Given the description of an element on the screen output the (x, y) to click on. 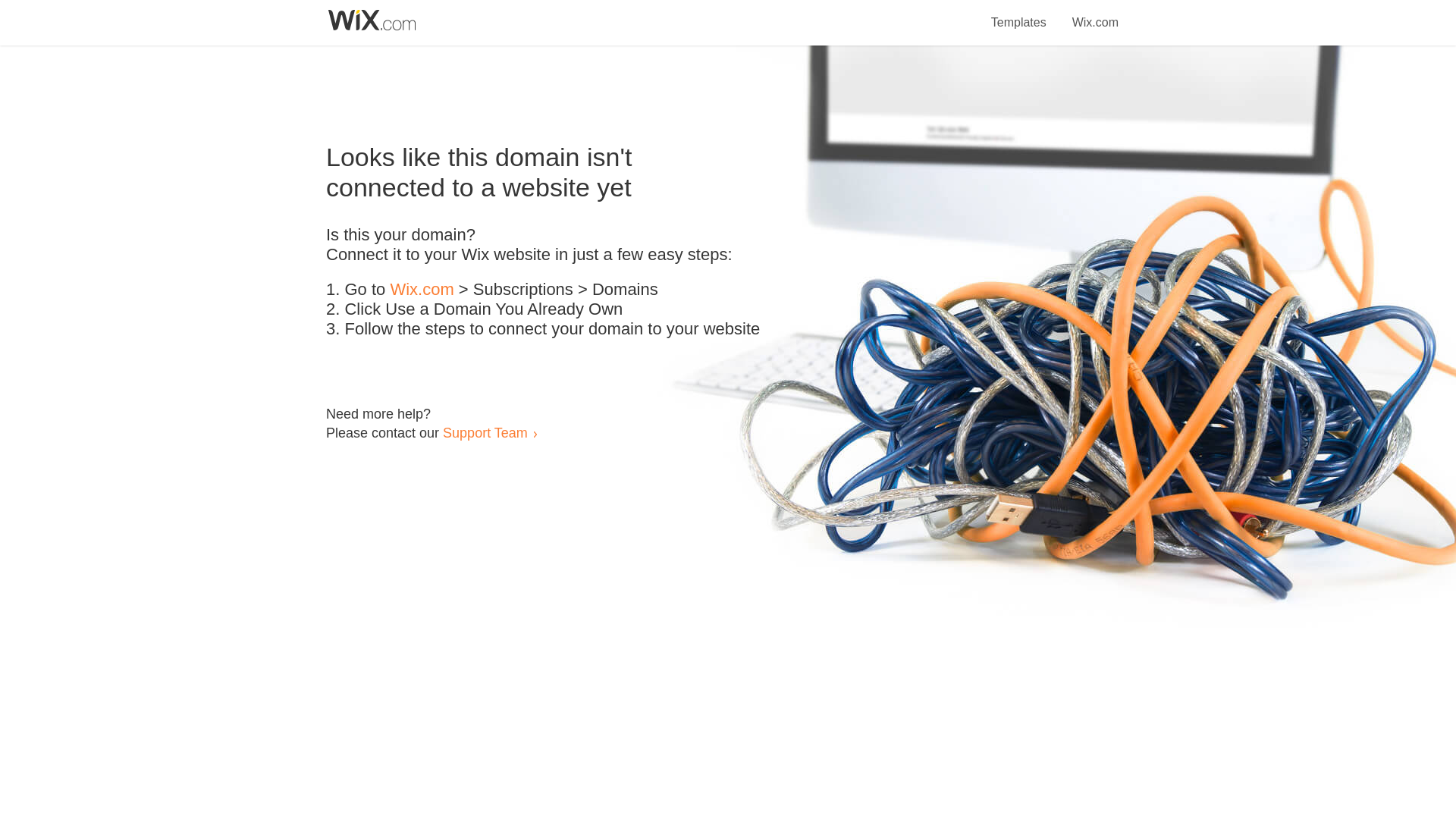
Support Team (484, 432)
Templates (1018, 14)
Wix.com (421, 289)
Wix.com (1095, 14)
